Given the description of an element on the screen output the (x, y) to click on. 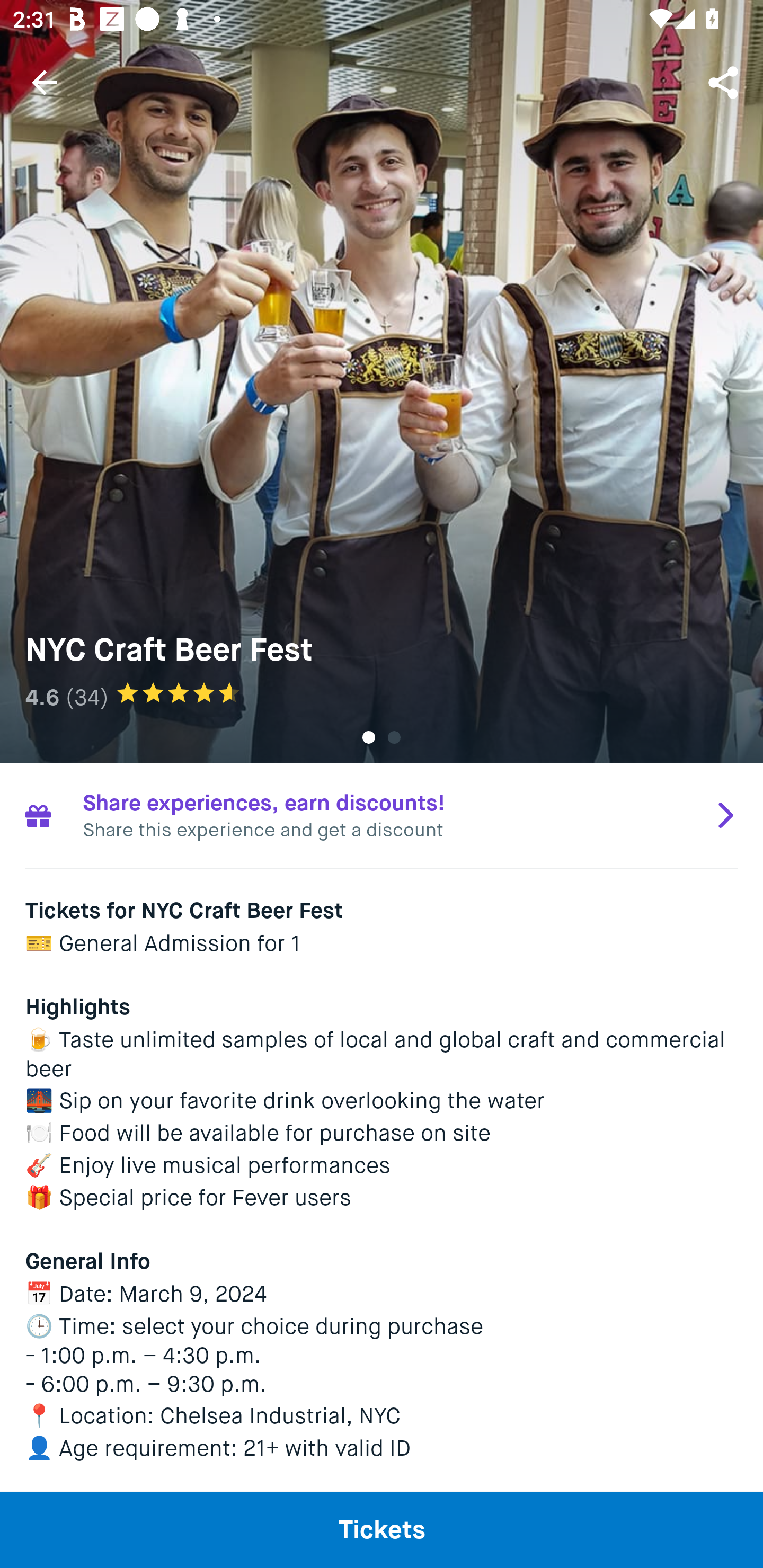
Navigate up (44, 82)
Share (724, 81)
(34) (86, 697)
Tickets (381, 1529)
